Given the description of an element on the screen output the (x, y) to click on. 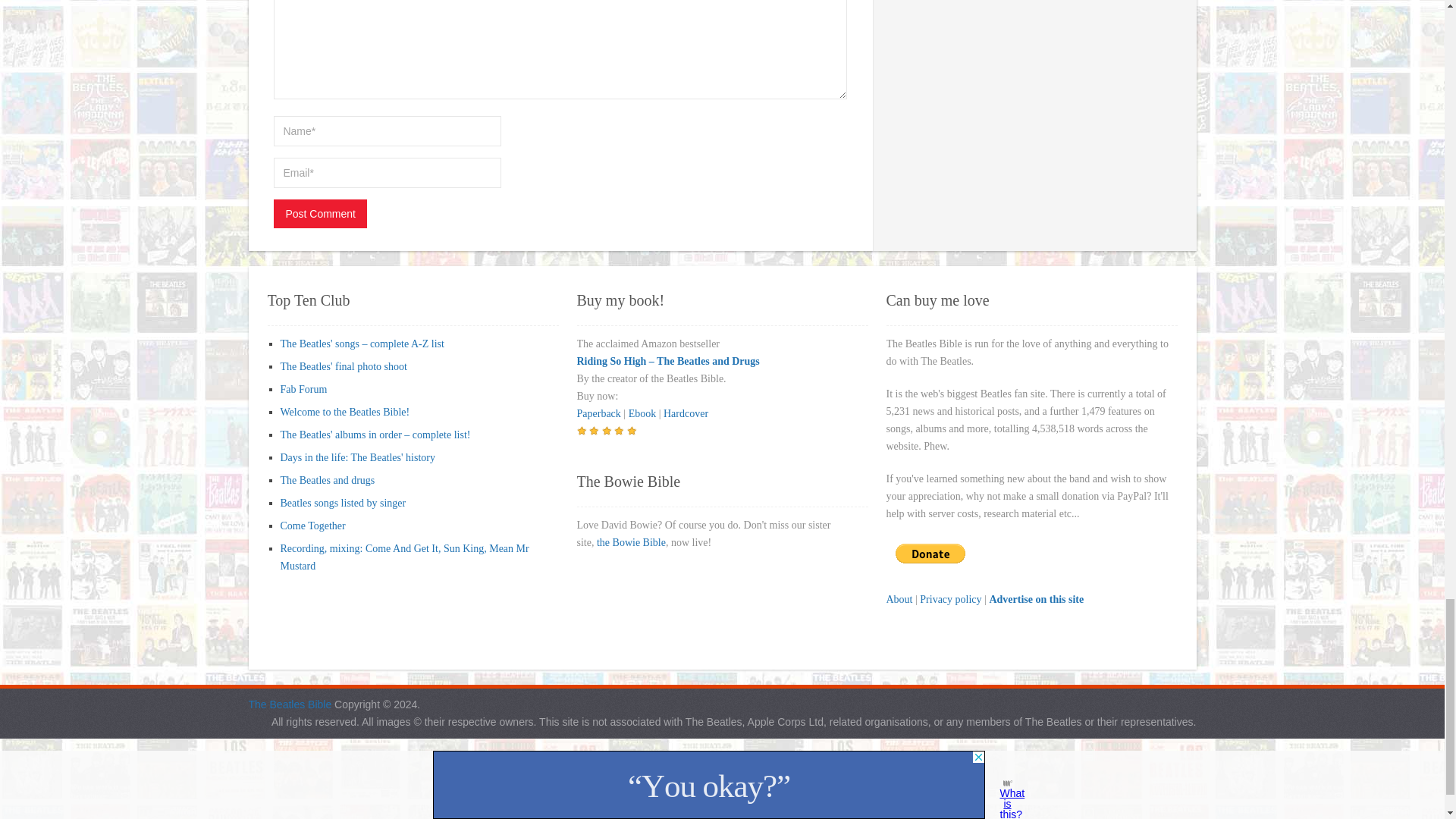
Post Comment (319, 213)
